Given the description of an element on the screen output the (x, y) to click on. 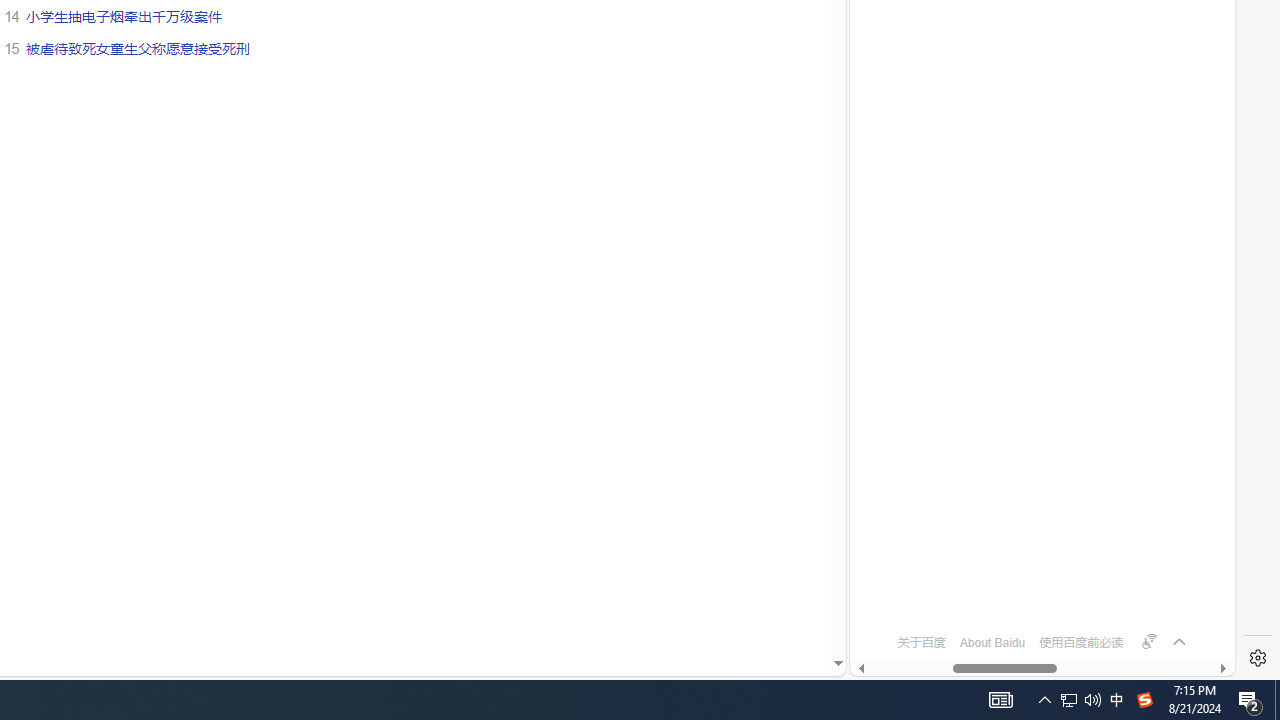
OFTV - Enjoy videos from your favorite OF creators! (1034, 604)
